Given the description of an element on the screen output the (x, y) to click on. 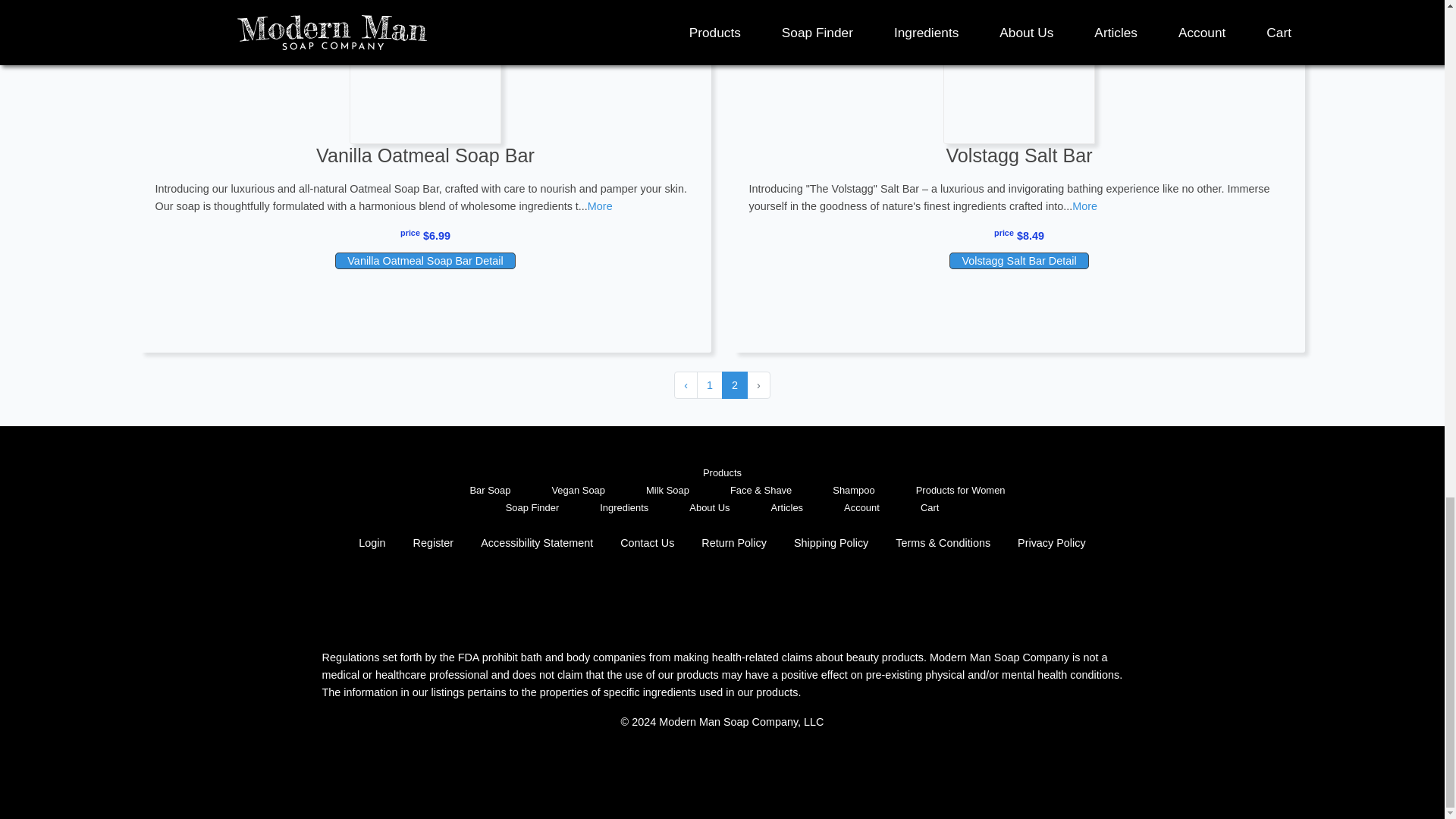
More (1084, 205)
More (600, 205)
Volstagg Salt Bar Detail (1018, 260)
Vanilla Oatmeal Soap Bar Detail (424, 260)
